Given the description of an element on the screen output the (x, y) to click on. 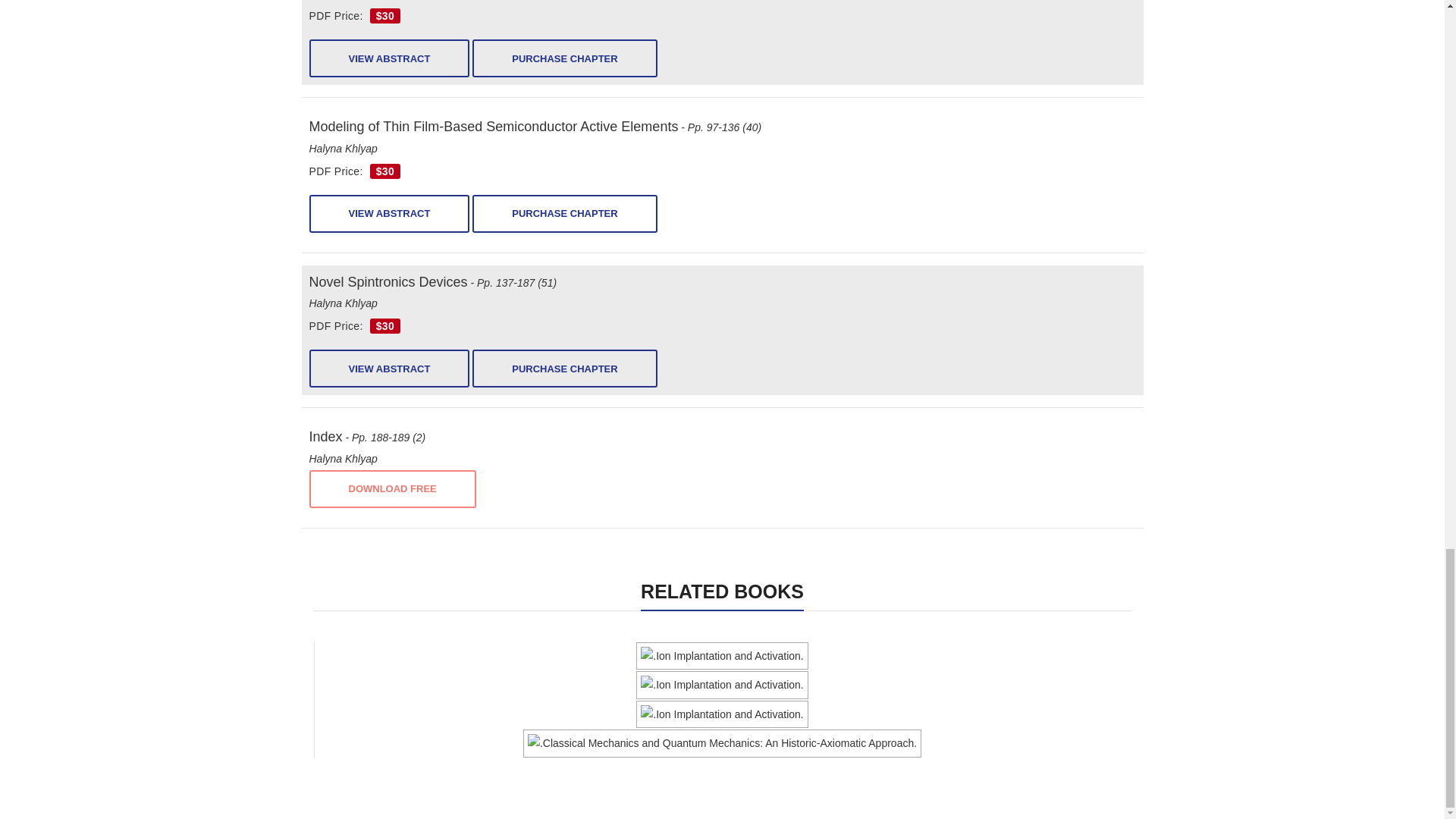
Ion Implantation and Activation (722, 714)
Ion Implantation and Activation (722, 656)
Ion Implantation and Activation (722, 684)
